Given the description of an element on the screen output the (x, y) to click on. 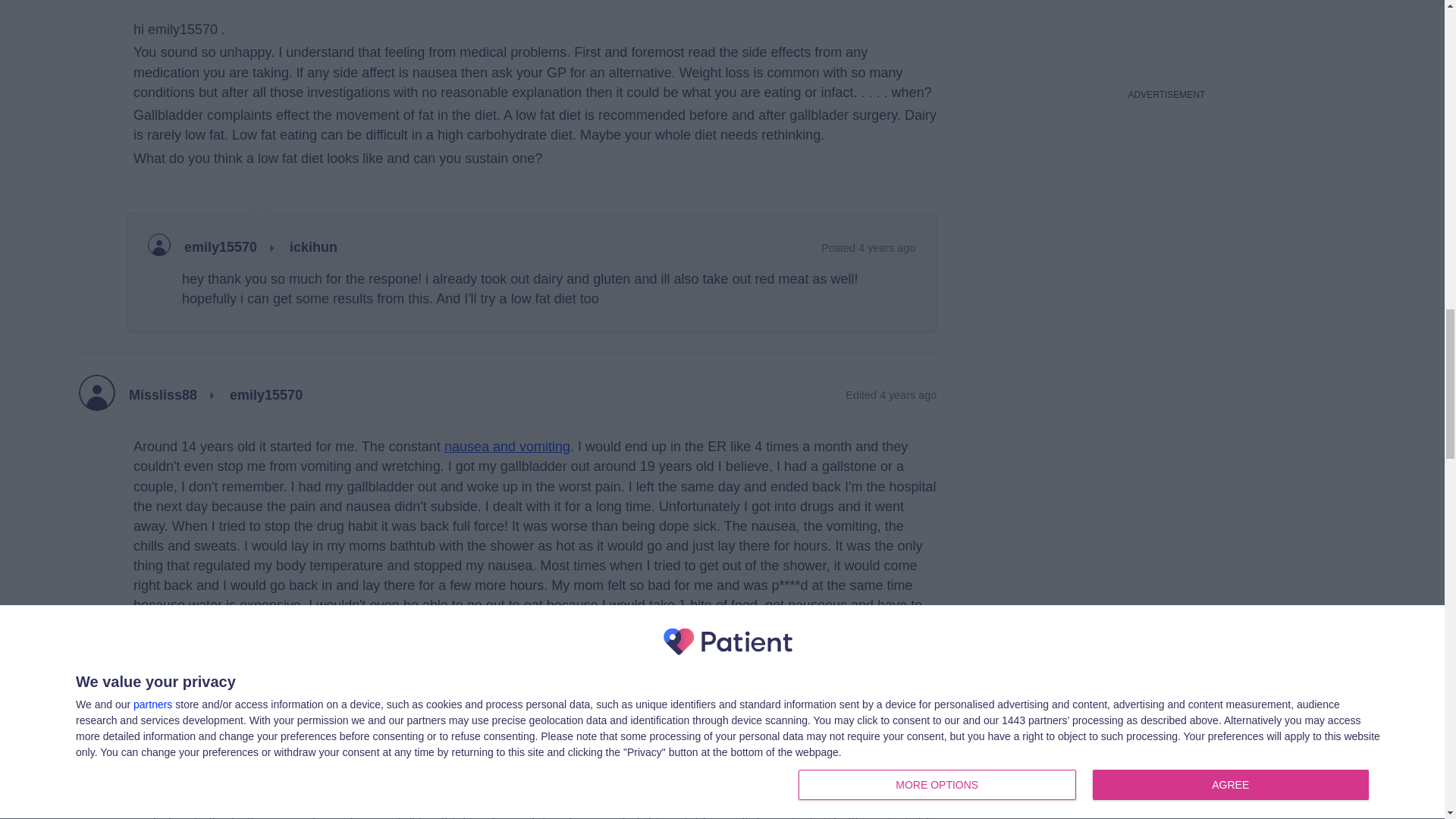
nausea and vomiting (507, 446)
blood tests (236, 802)
emily15570 (220, 247)
emily15570 (266, 395)
Missliss88 (162, 395)
View emily15570's profile (220, 247)
ickihun (313, 247)
View Missliss88's profile (162, 395)
